Given the description of an element on the screen output the (x, y) to click on. 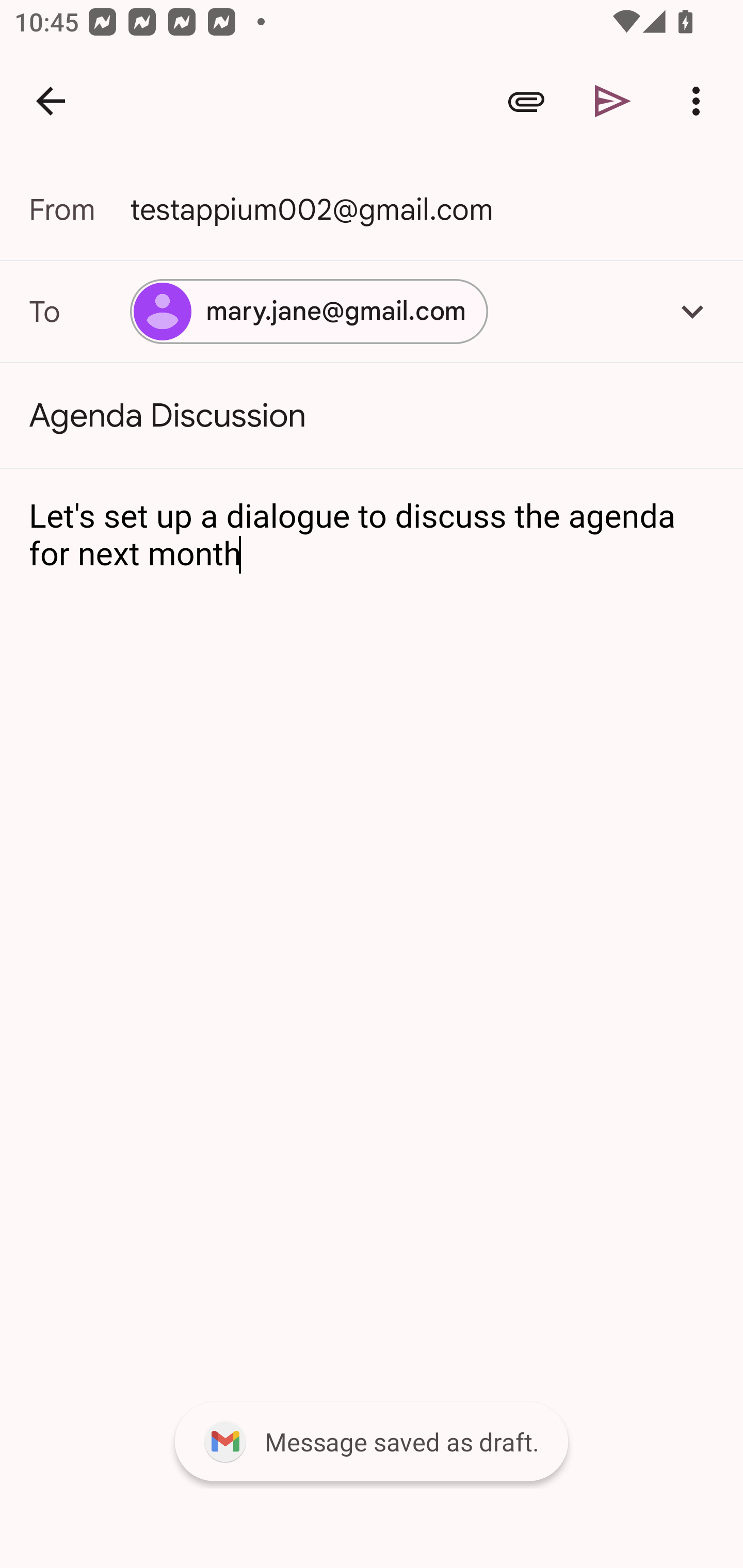
Navigate up (50, 101)
Attach file (525, 101)
Send (612, 101)
More options (699, 101)
From (79, 209)
Add Cc/Bcc (692, 311)
Agenda Discussion (371, 415)
